Given the description of an element on the screen output the (x, y) to click on. 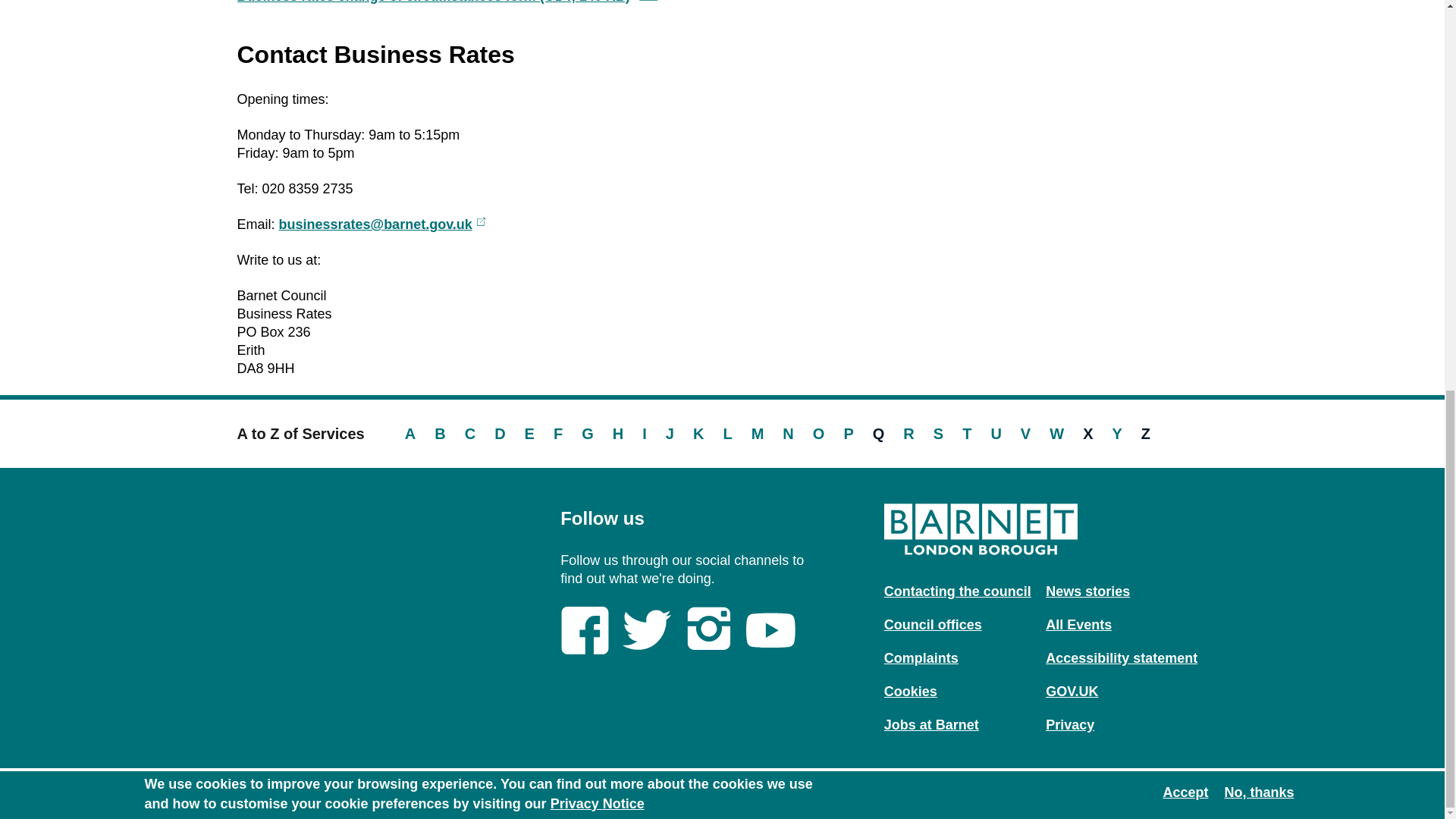
No, thanks (1258, 48)
Accept (1185, 48)
Privacy Notice (597, 59)
